Given the description of an element on the screen output the (x, y) to click on. 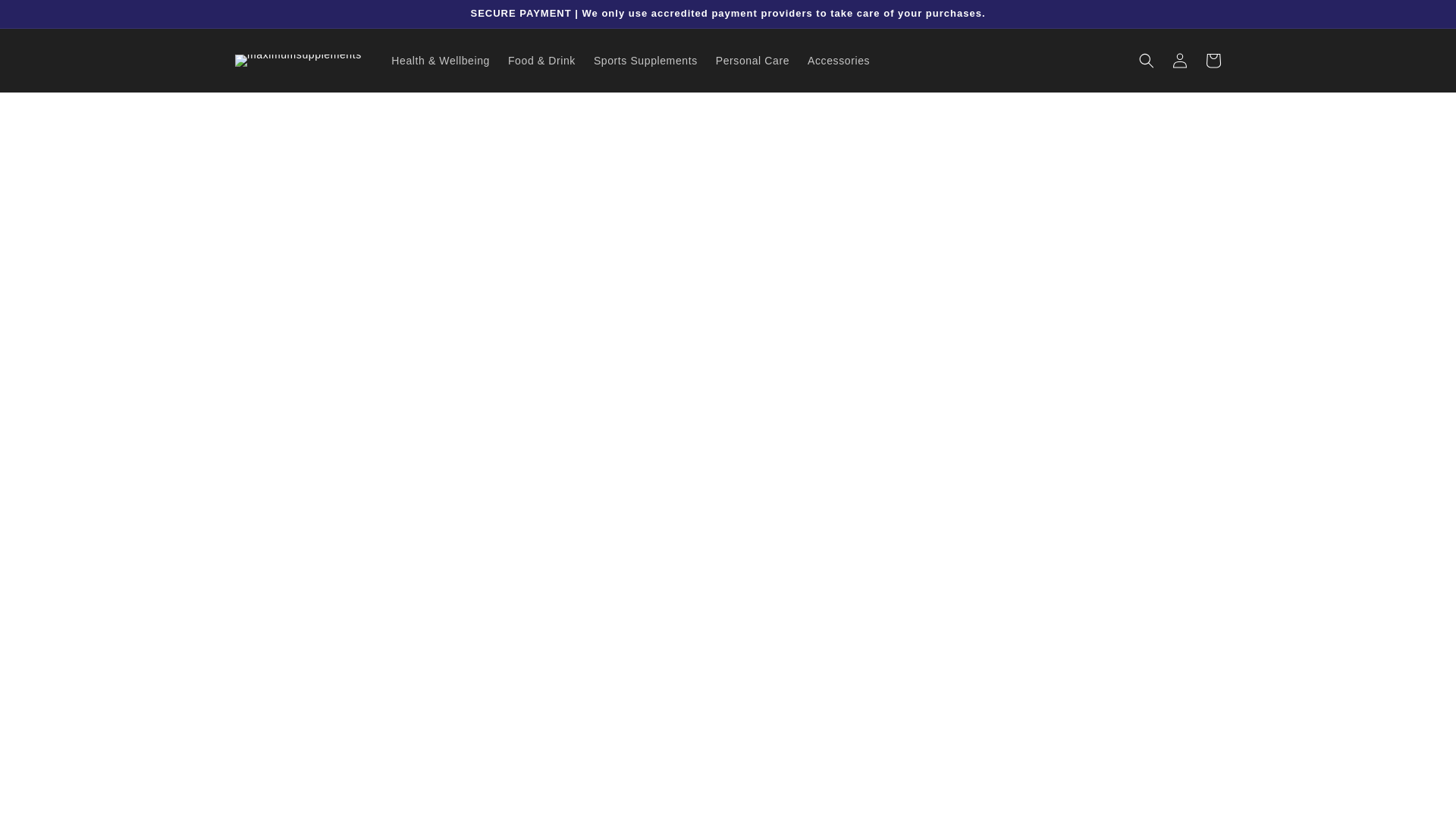
Cart (1213, 60)
Personal Care (751, 60)
Skip to content (45, 17)
Log in (1179, 60)
Accessories (838, 60)
Sports Supplements (645, 60)
